Given the description of an element on the screen output the (x, y) to click on. 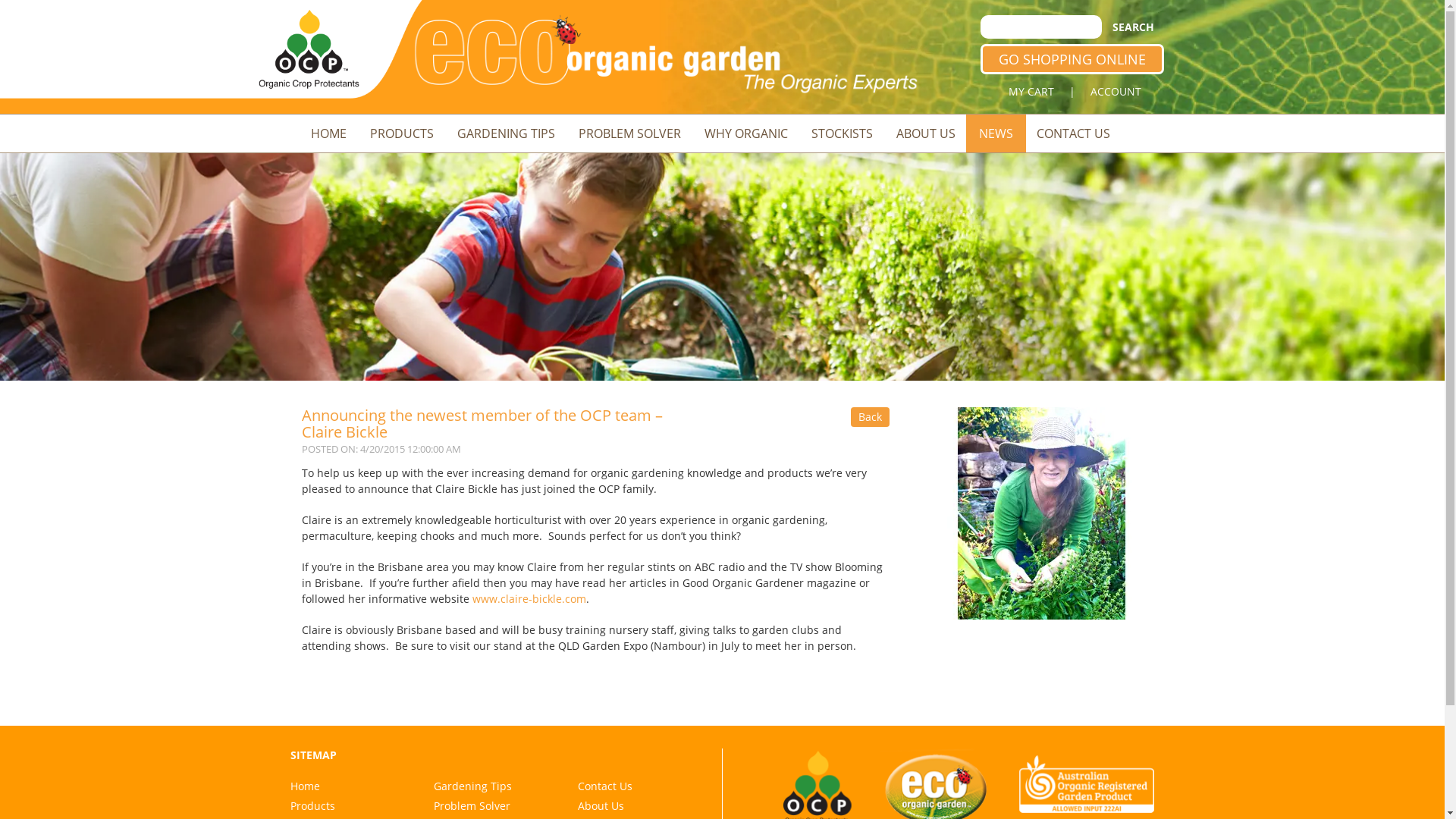
NEWS Element type: text (996, 133)
Gardening Tips Element type: text (472, 785)
Problem Solver Element type: text (471, 805)
WHY ORGANIC Element type: text (745, 133)
ACCOUNT Element type: text (1115, 91)
GO SHOPPING ONLINE Element type: text (1071, 58)
HOME Element type: text (327, 133)
About Us Element type: text (600, 805)
GARDENING TIPS Element type: text (505, 133)
CONTACT US Element type: text (1073, 133)
www.claire-bickle.com Element type: text (528, 598)
STOCKISTS Element type: text (840, 133)
Products Element type: text (311, 805)
ABOUT US Element type: text (924, 133)
Contact Us Element type: text (604, 785)
Back Element type: text (869, 416)
MY CART Element type: text (1031, 91)
PROBLEM SOLVER Element type: text (629, 133)
Home Element type: text (304, 785)
PRODUCTS Element type: text (400, 133)
